Given the description of an element on the screen output the (x, y) to click on. 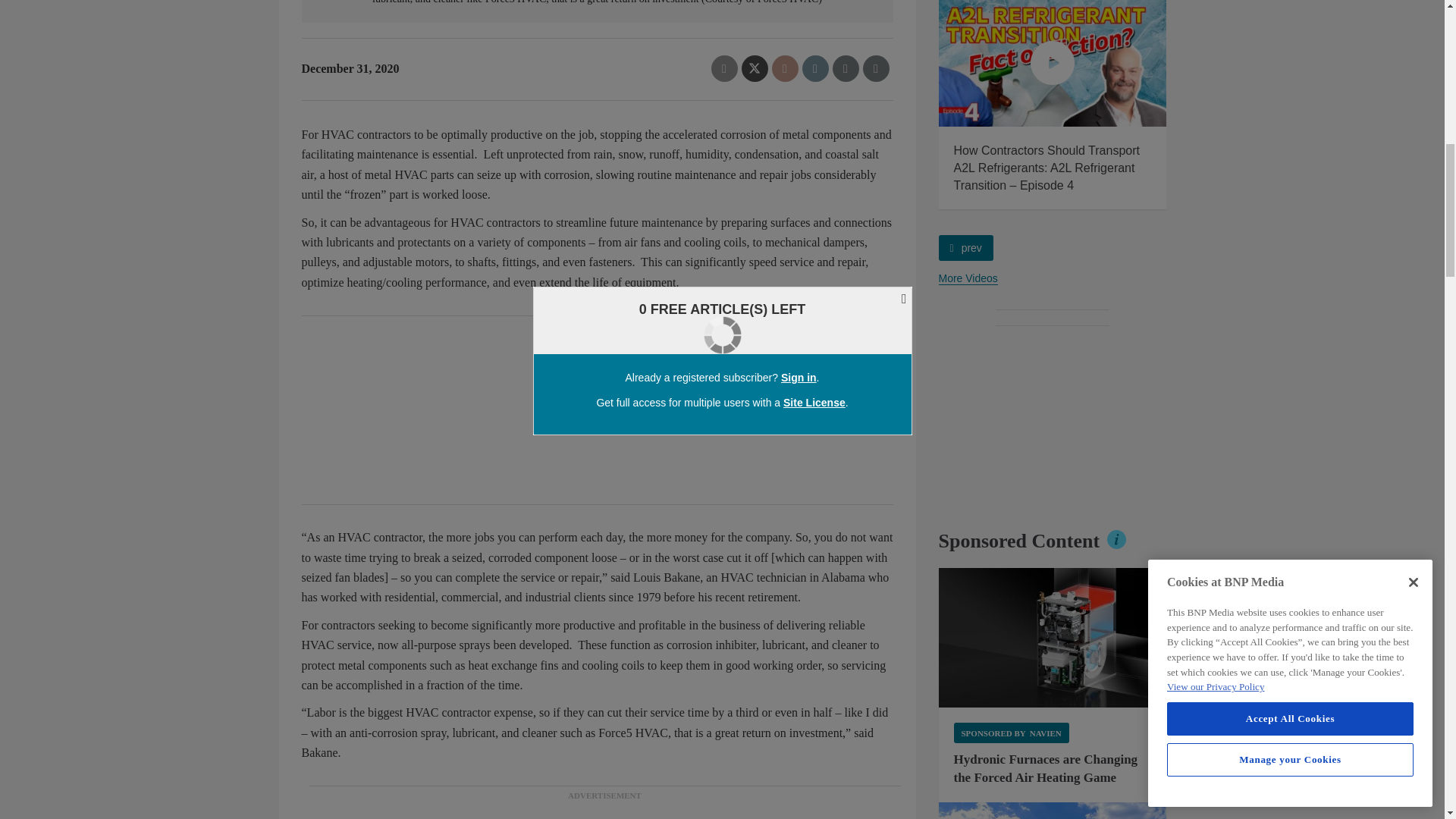
Texas Frio Cold Storage (1052, 810)
Sponsored by Navien (1010, 732)
Hydronic Forced Air Furnace Diagram (1052, 637)
